Given the description of an element on the screen output the (x, y) to click on. 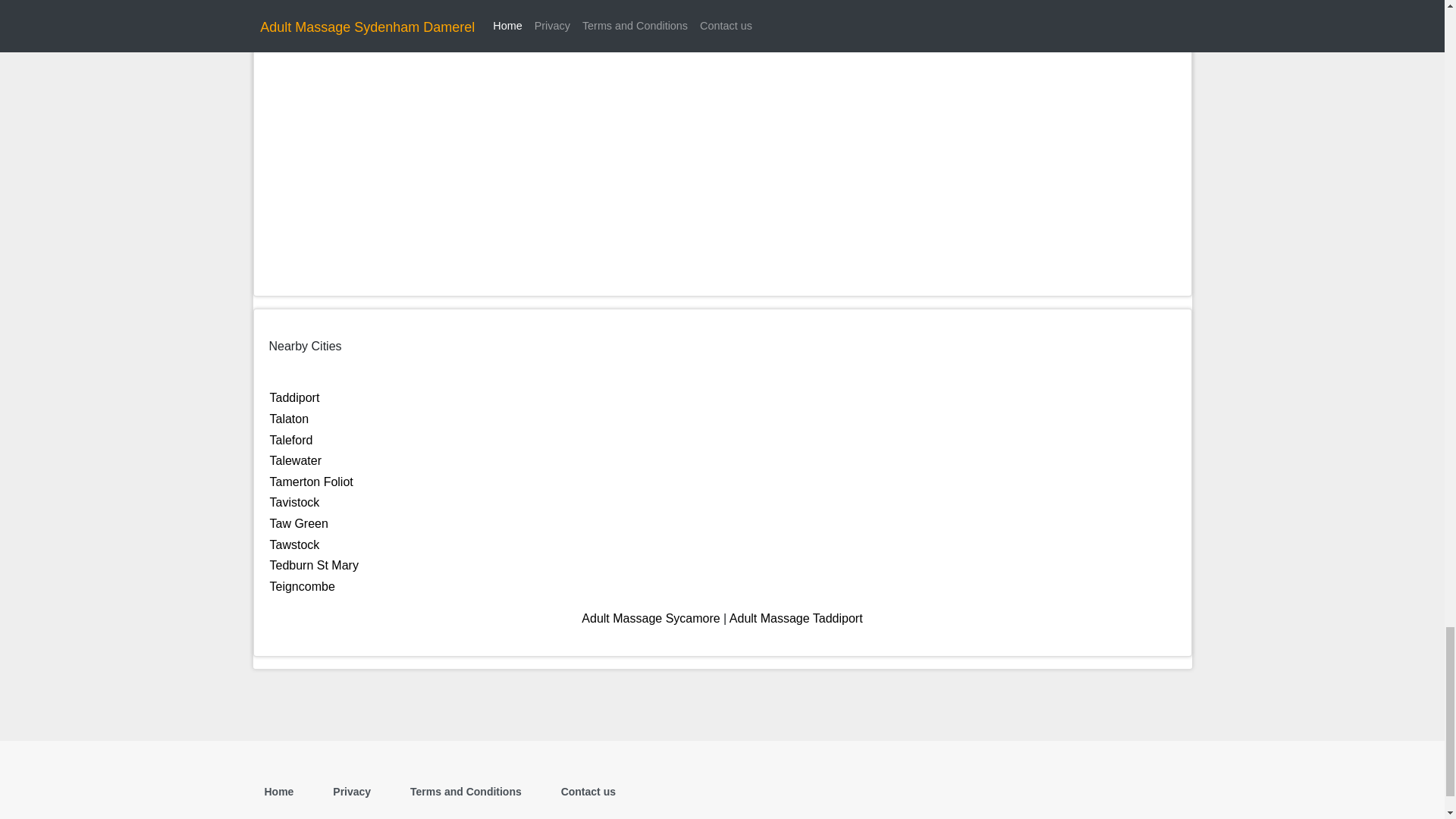
Adult Massage Taddiport (796, 617)
Taddiport (294, 397)
Tedburn St Mary (313, 564)
Talaton (288, 418)
Talewater (295, 460)
Teigncombe (301, 585)
Tawstock (294, 544)
Tamerton Foliot (311, 481)
Taw Green (299, 522)
Adult Massage Sycamore (649, 617)
Tavistock (294, 502)
Taleford (291, 440)
